Given the description of an element on the screen output the (x, y) to click on. 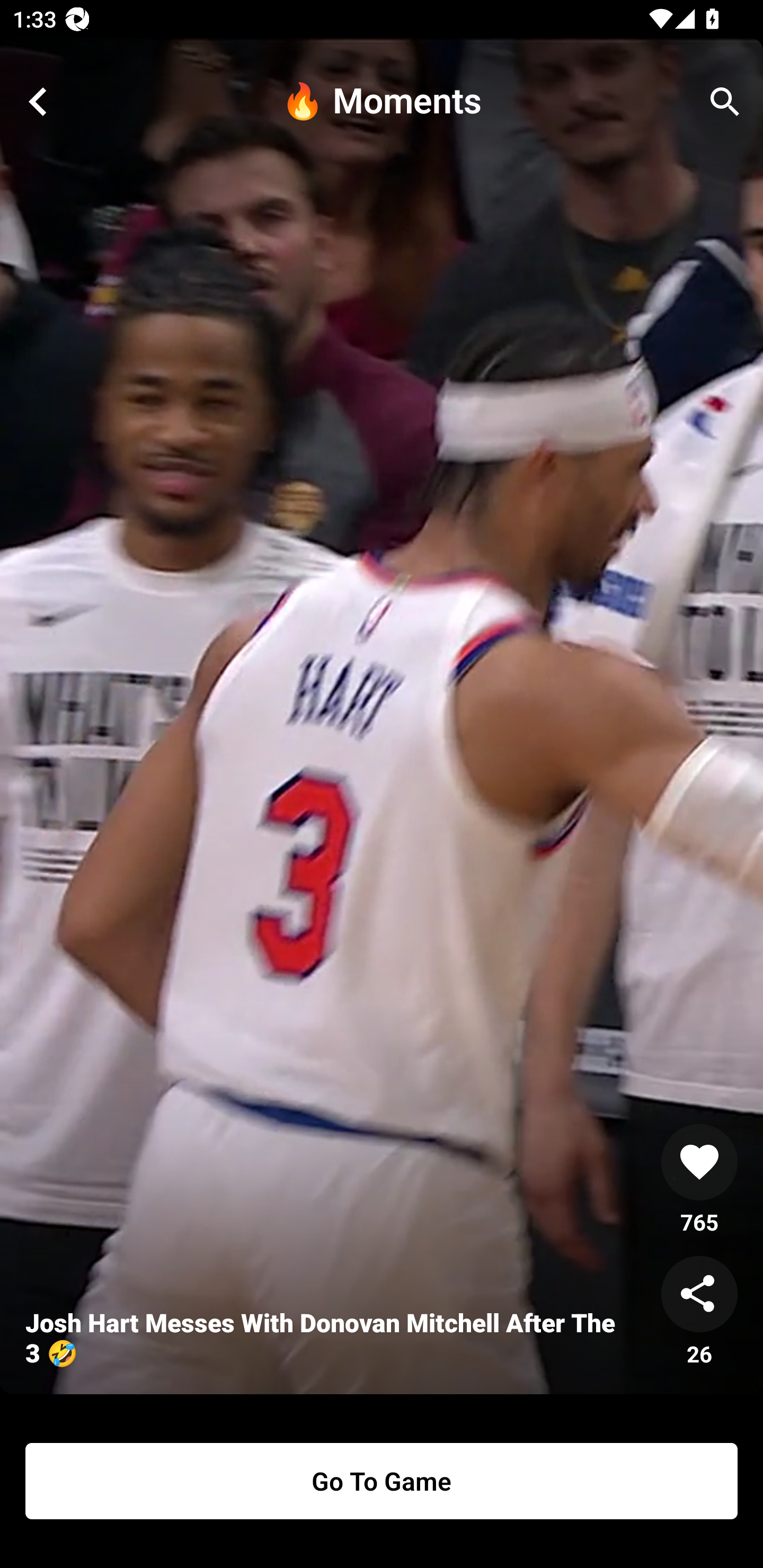
close (38, 101)
search (724, 101)
like 765 765 Likes (699, 1180)
share 26 26 Shares (699, 1311)
Go To Game (381, 1480)
